Given the description of an element on the screen output the (x, y) to click on. 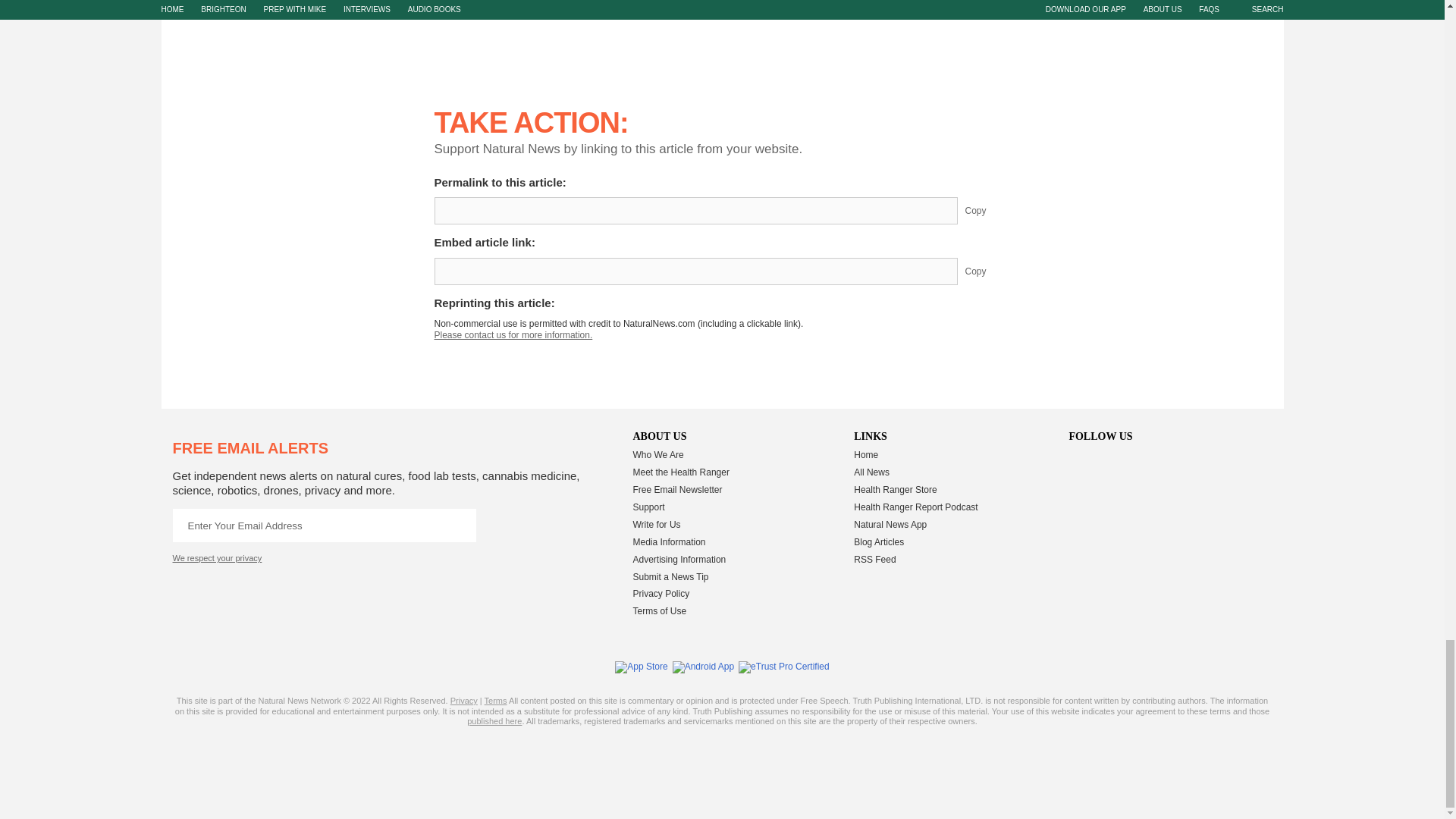
Copy Permalink (986, 210)
Copy Embed Link (986, 271)
eTrust Pro Certified (783, 666)
Continue (459, 525)
